Given the description of an element on the screen output the (x, y) to click on. 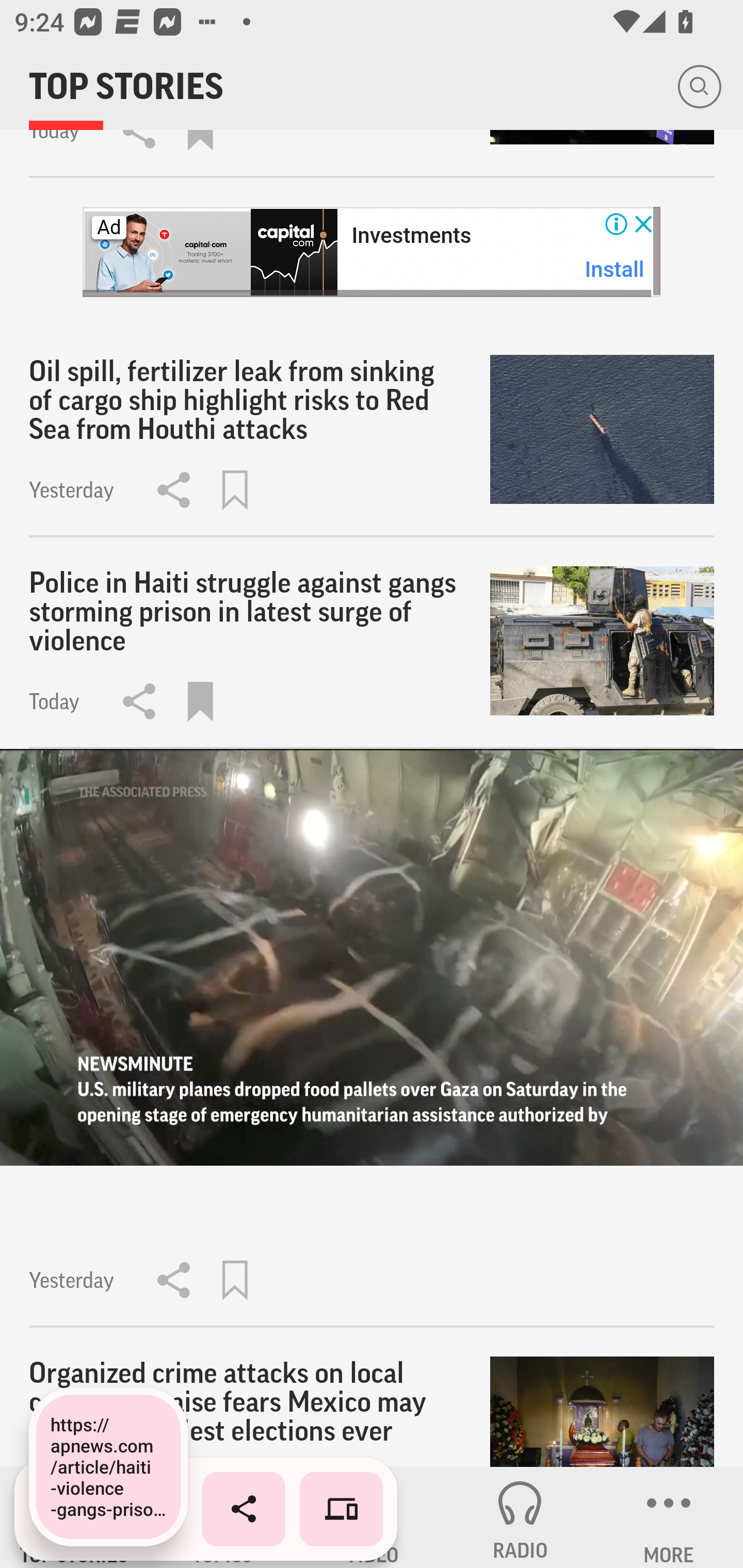
Investments (410, 235)
Install (614, 269)
toggle controls Yesterday (371, 1038)
toggle controls (371, 957)
TOPICS (222, 1517)
VIDEO (371, 1517)
RADIO (519, 1517)
MORE (668, 1517)
